Given the description of an element on the screen output the (x, y) to click on. 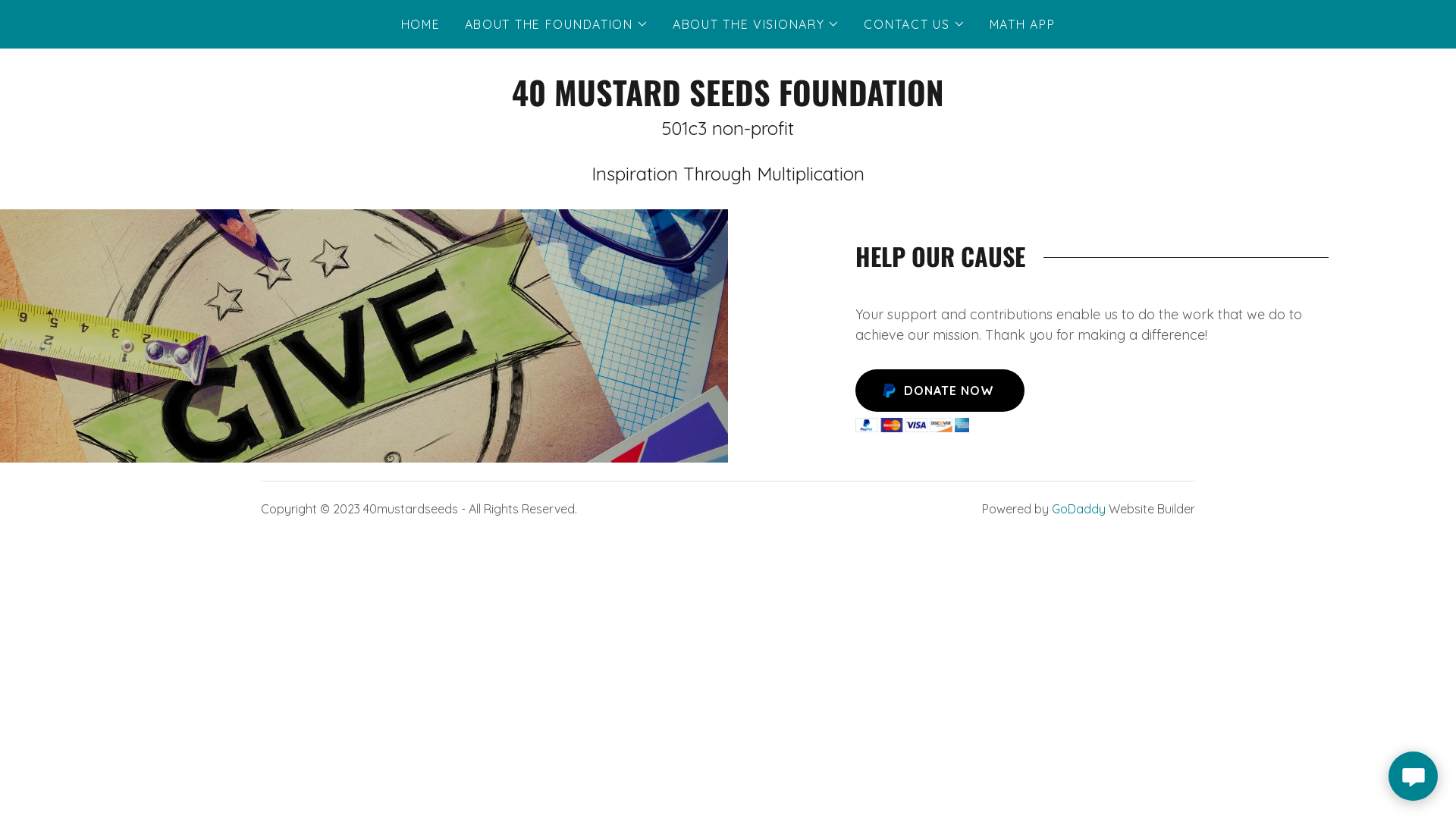
CONTACT US Element type: text (913, 24)
ABOUT THE FOUNDATION Element type: text (556, 24)
GoDaddy Element type: text (1078, 508)
DONATE NOW Element type: text (939, 390)
40 MUSTARD SEEDS FOUNDATION Element type: text (727, 100)
ABOUT THE VISIONARY Element type: text (756, 24)
HOME Element type: text (420, 23)
MATH APP Element type: text (1022, 23)
